Given the description of an element on the screen output the (x, y) to click on. 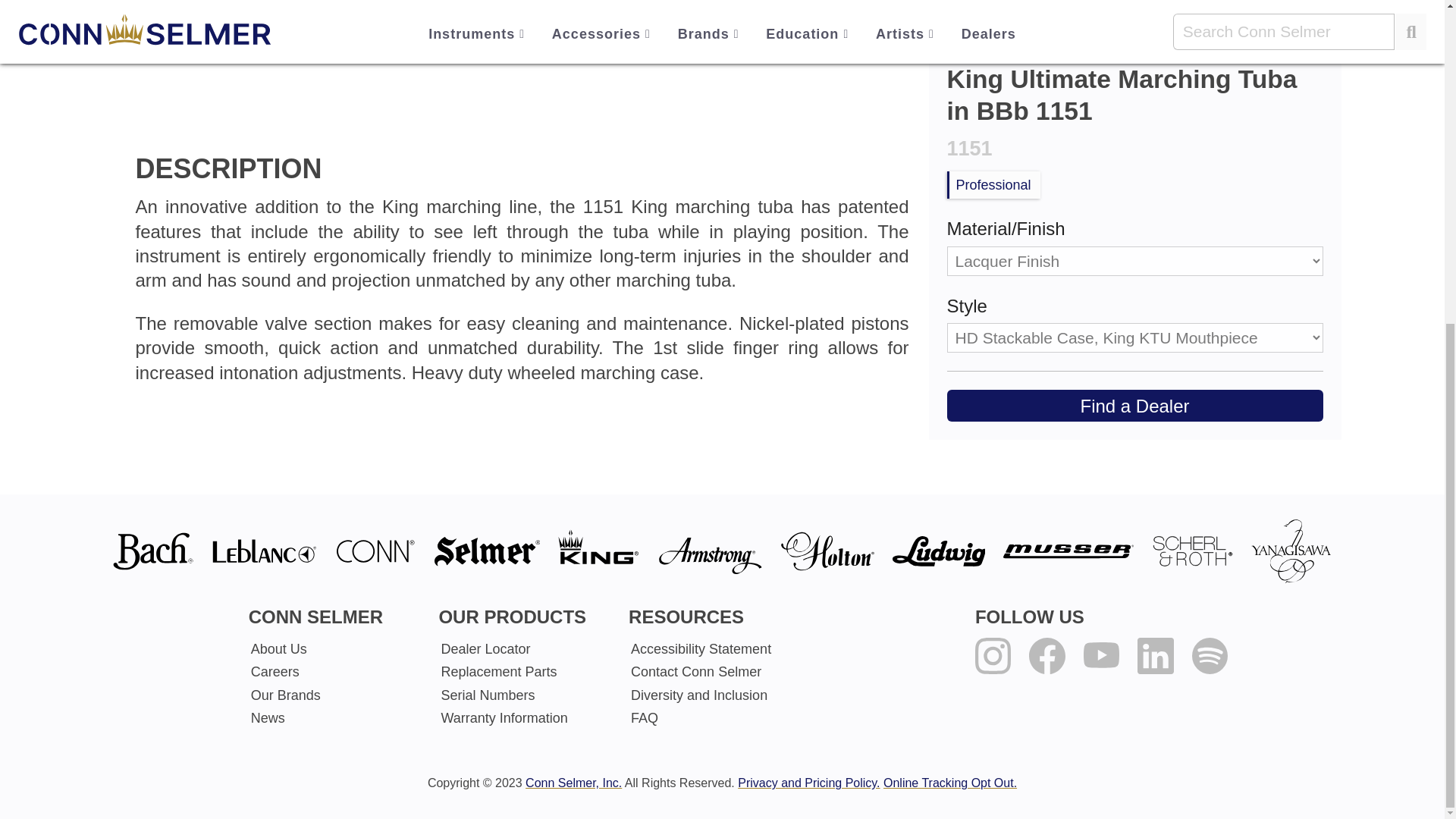
View Armstrong Instruments (709, 551)
View Conn Instruments (375, 551)
News (330, 717)
About Us (330, 649)
Our Brands (330, 694)
View Musser Instruments (1068, 551)
Learn more about the Bach brand. (152, 551)
Our Brands (330, 694)
Careers (330, 671)
View Leblanc Instruments (264, 551)
